Given the description of an element on the screen output the (x, y) to click on. 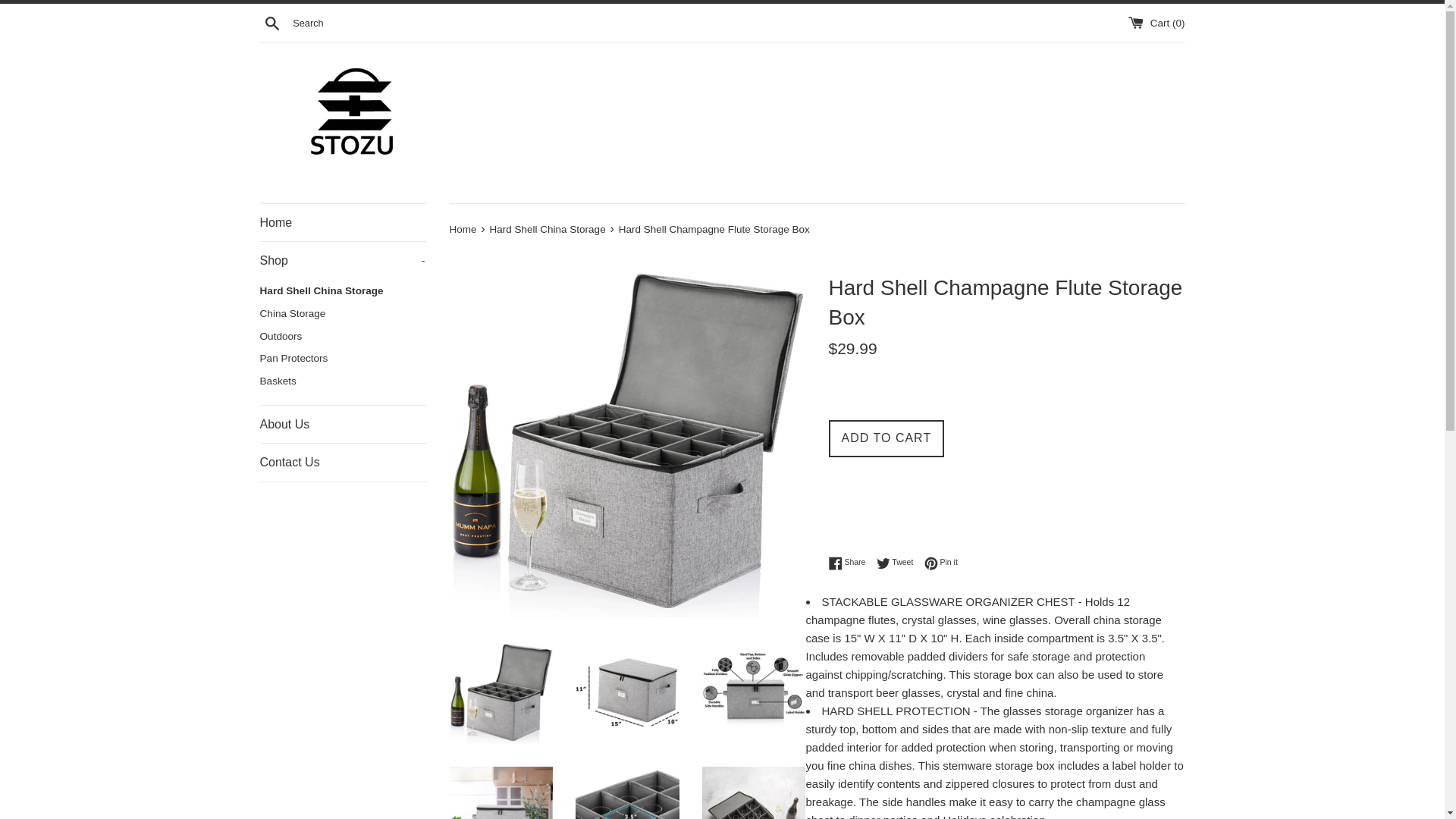
Hard Shell China Storage (898, 562)
Outdoors (548, 229)
Pin on Pinterest (342, 336)
Search (941, 562)
Share on Facebook (271, 21)
China Storage (850, 562)
About Us (941, 562)
Tweet on Twitter (850, 562)
Home (342, 313)
Home (342, 260)
Pan Protectors (342, 424)
